Given the description of an element on the screen output the (x, y) to click on. 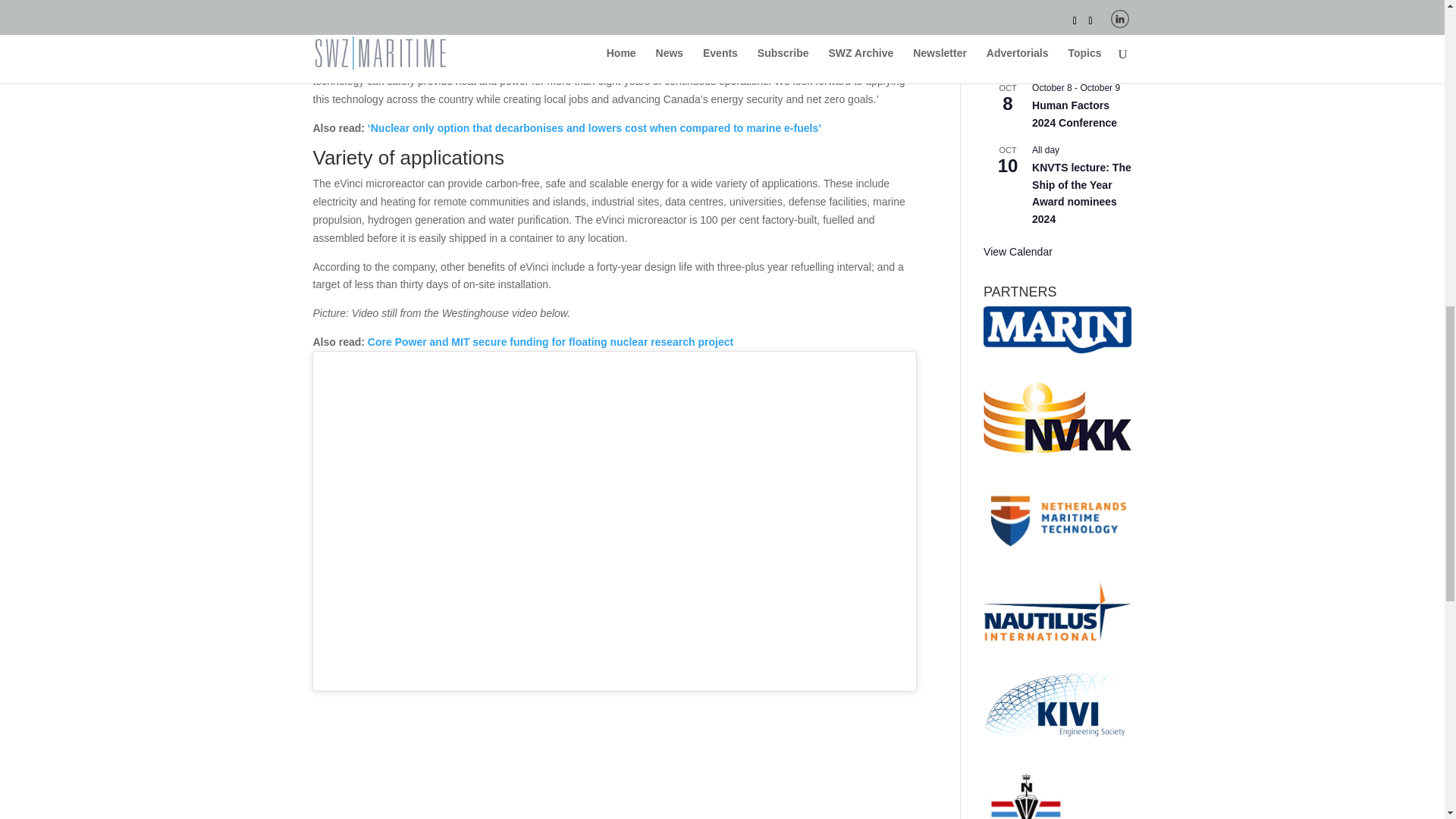
View more events. (1018, 251)
Human Factors 2024 Conference (1074, 114)
KNVTS lecture: The Ship of the Year Award nominees 2024 (1081, 193)
Human Factors 2024 Conference (1074, 114)
PARTNERS (1057, 329)
Westinghouse (721, 62)
